Given the description of an element on the screen output the (x, y) to click on. 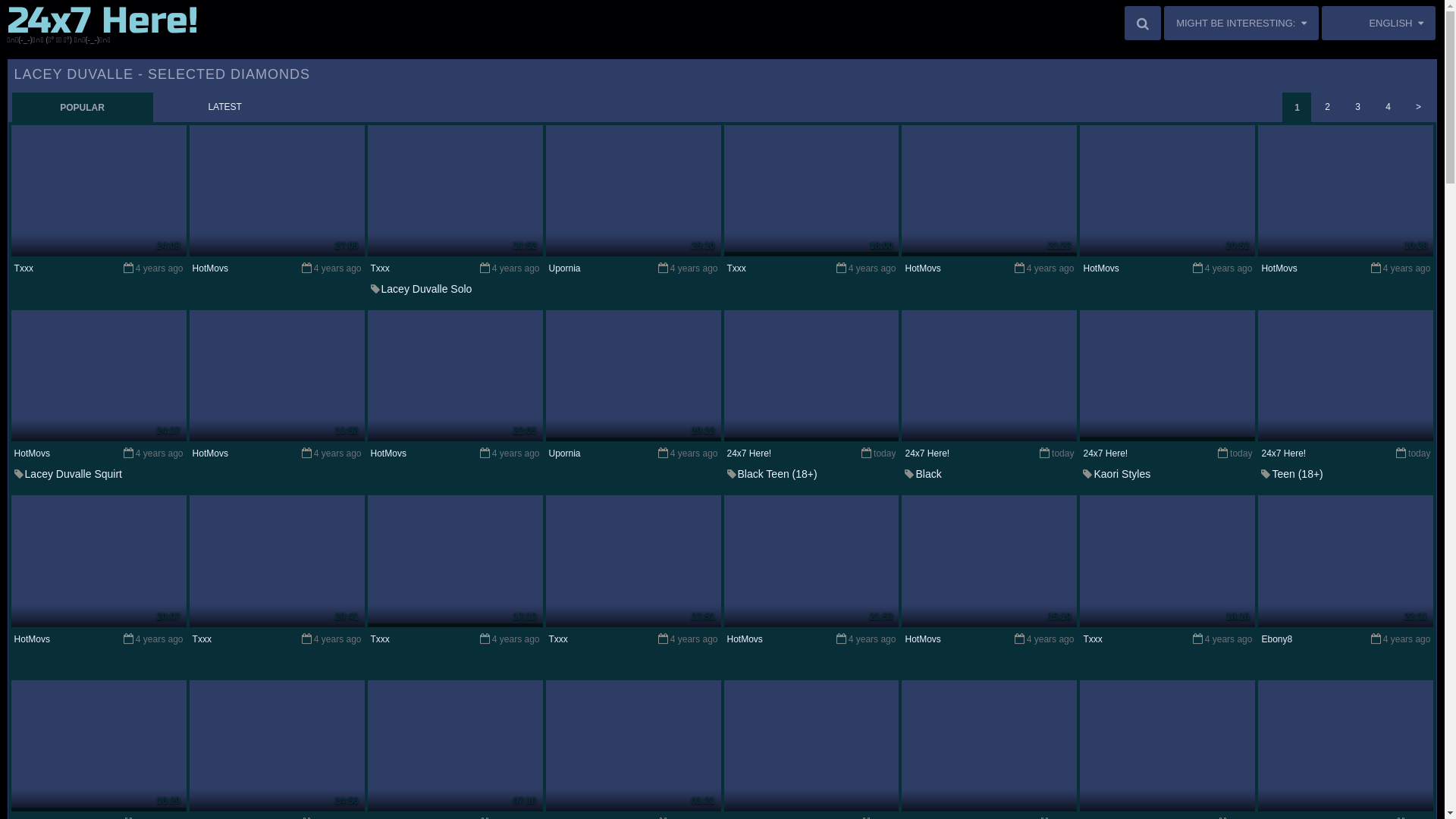
Black Teen (18+) Element type: text (776, 473)
24x7 Here! Element type: text (1104, 453)
4 Element type: text (1387, 106)
> Element type: text (1417, 106)
Lacey Duvalle Squirt Element type: text (73, 473)
POPULAR Element type: text (82, 106)
MIGHT BE INTERESTING: Element type: text (1241, 23)
HotMovs Element type: text (210, 268)
HotMovs Element type: text (744, 638)
HotMovs Element type: text (922, 268)
Txxx Element type: text (23, 268)
Black Element type: text (928, 473)
2 Element type: text (1326, 106)
Teen (18+) Element type: text (1296, 473)
HotMovs Element type: text (1100, 268)
ENGLISH Element type: text (1378, 23)
Upornia Element type: text (564, 453)
Lacey Duvalle Solo Element type: text (426, 288)
Upornia Element type: text (564, 268)
Txxx Element type: text (379, 638)
HotMovs Element type: text (210, 453)
HotMovs Element type: text (1278, 268)
24x7 Here! Element type: text (926, 453)
3 Element type: text (1357, 106)
HotMovs Element type: text (32, 453)
Txxx Element type: text (735, 268)
Txxx Element type: text (1091, 638)
LATEST Element type: text (224, 106)
HotMovs Element type: text (32, 638)
Txxx Element type: text (379, 268)
Ebony8 Element type: text (1276, 638)
Txxx Element type: text (558, 638)
Kaori Styles Element type: text (1121, 473)
HotMovs Element type: text (922, 638)
24x7 Here! Element type: text (1283, 453)
Txxx Element type: text (201, 638)
1 Element type: text (1296, 106)
HotMovs Element type: text (388, 453)
24x7 Here! Element type: text (748, 453)
